Given the description of an element on the screen output the (x, y) to click on. 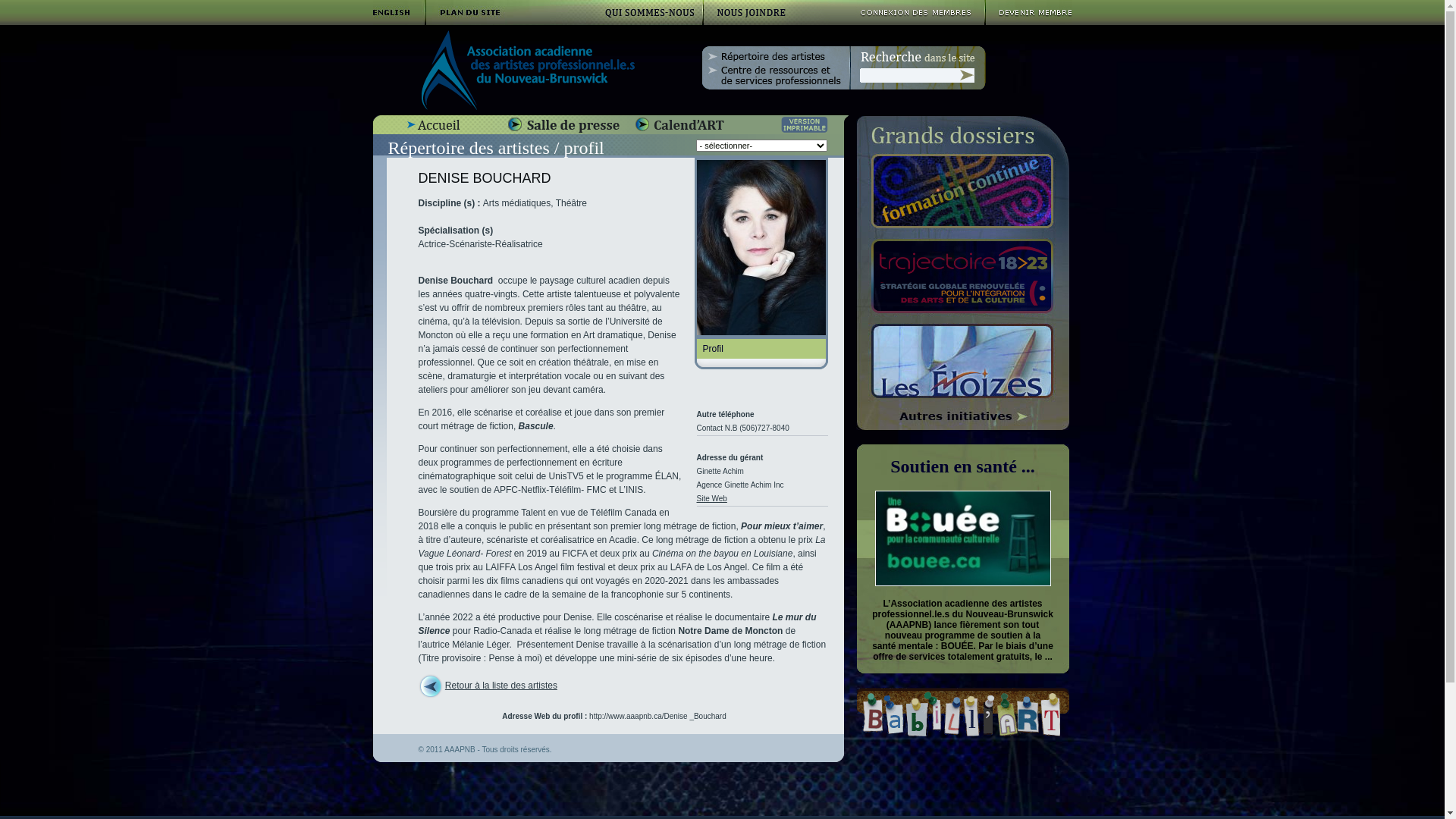
Recherche Element type: hover (966, 74)
Autres initiatives Element type: hover (960, 416)
Accueil Element type: hover (432, 124)
Connexion des membres Element type: hover (908, 12)
Nous joindre Element type: hover (751, 12)
Formation continue Element type: hover (962, 191)
Calend'ART Element type: hover (679, 124)
Salle de presse Element type: hover (563, 124)
Qui sommes-nous Element type: hover (647, 12)
English Element type: hover (399, 12)
Site Web Element type: text (711, 498)
Profil Element type: text (760, 348)
Devenir membre Element type: hover (1028, 20)
Centre de ressources et de services professionnels Element type: hover (774, 75)
Plan du site Element type: hover (466, 12)
Devenir membre Element type: hover (1028, 12)
Connexion des membres Element type: hover (908, 20)
Babill'ART Element type: hover (964, 731)
Imprimer cette page Element type: hover (804, 124)
